Given the description of an element on the screen output the (x, y) to click on. 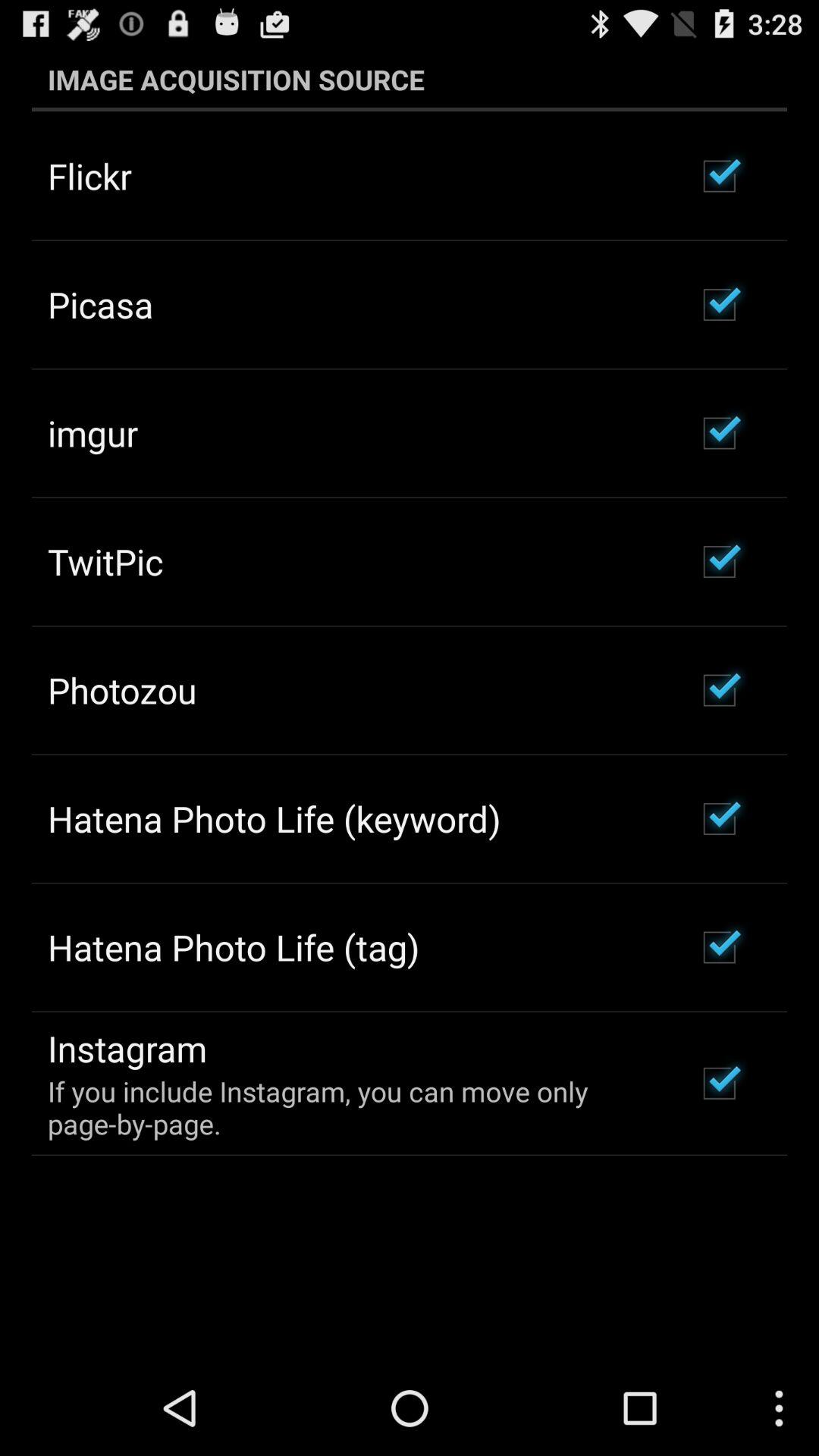
open app below imgur item (105, 561)
